Given the description of an element on the screen output the (x, y) to click on. 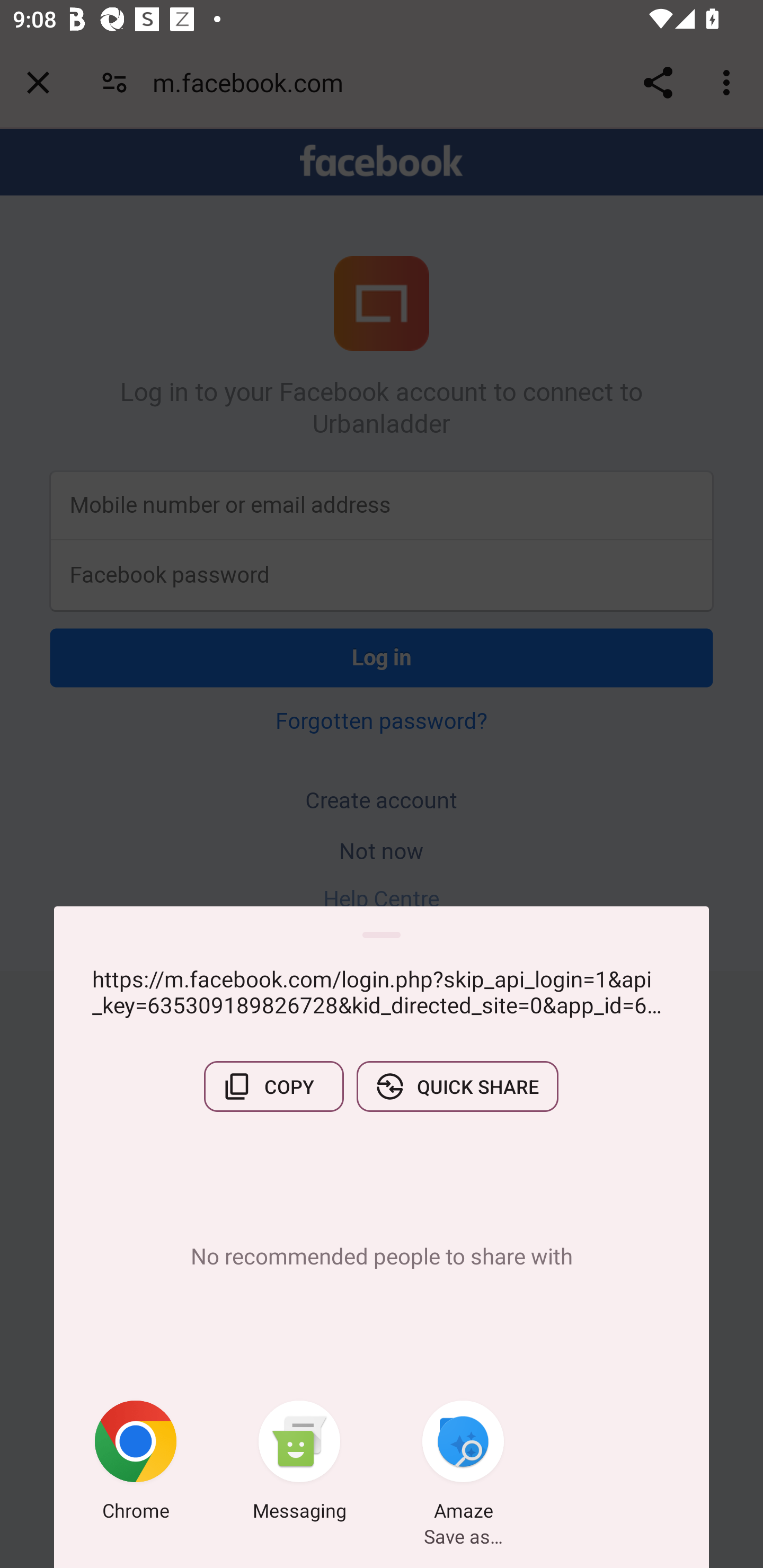
COPY (273, 1086)
QUICK SHARE (457, 1086)
Chrome (135, 1463)
Messaging (299, 1463)
Amaze Save as… (463, 1463)
